Given the description of an element on the screen output the (x, y) to click on. 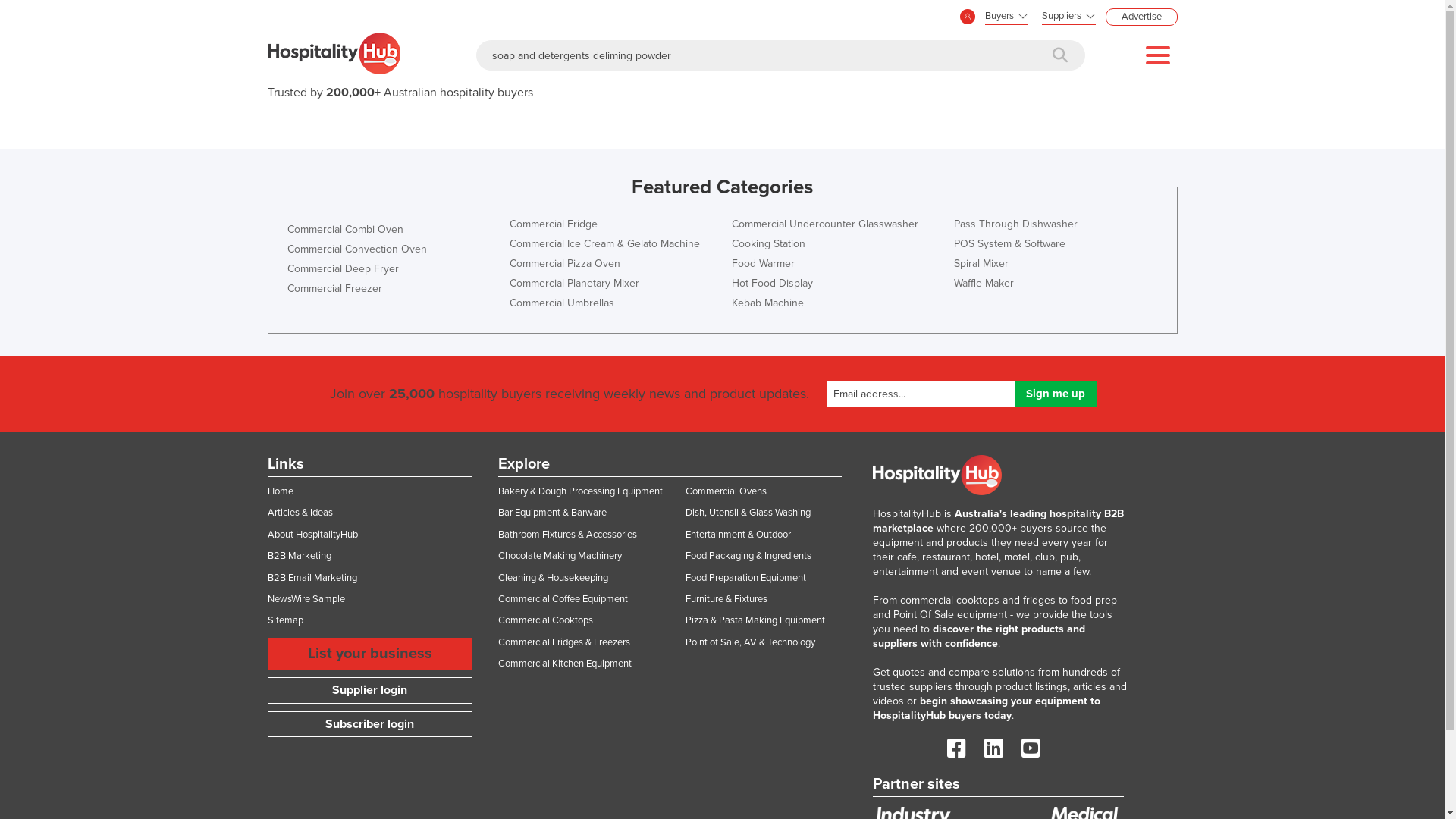
Entertainment & Outdoor Element type: text (737, 534)
Chocolate Making Machinery Element type: text (559, 555)
Commercial Combi Oven Element type: text (344, 228)
Dish, Utensil & Glass Washing Element type: text (747, 512)
Supplier login Element type: text (368, 690)
Kebab Machine Element type: text (767, 302)
B2B Marketing Element type: text (298, 555)
Cleaning & Housekeeping Element type: text (552, 577)
discover the right products and suppliers with confidence Element type: text (978, 635)
Commercial Ice Cream & Gelato Machine Element type: text (604, 243)
POS System & Software Element type: text (1009, 243)
Point of Sale, AV & Technology Element type: text (750, 642)
Commercial Fridges & Freezers Element type: text (563, 642)
Articles & Ideas Element type: text (299, 512)
Bathroom Fixtures & Accessories Element type: text (566, 534)
Commercial Cooktops Element type: text (544, 620)
Cooking Station Element type: text (767, 243)
Commercial Convection Oven Element type: text (356, 248)
B2B Email Marketing Element type: text (311, 577)
Furniture & Fixtures Element type: text (726, 599)
Commercial Coffee Equipment Element type: text (562, 599)
Commercial Undercounter Glasswasher Element type: text (824, 223)
Commercial Pizza Oven Element type: text (564, 263)
Commercial Fridge Element type: text (553, 223)
Commercial Deep Fryer Element type: text (342, 268)
Pizza & Pasta Making Equipment Element type: text (755, 620)
Commercial Planetary Mixer Element type: text (574, 282)
Sitemap Element type: text (284, 620)
Bakery & Dough Processing Equipment Element type: text (579, 491)
About HospitalityHub Element type: text (311, 534)
List your business Element type: text (368, 653)
Pass Through Dishwasher Element type: text (1015, 223)
Subscriber login Element type: text (368, 724)
Food Preparation Equipment Element type: text (745, 577)
Spiral Mixer Element type: text (980, 263)
Bar Equipment & Barware Element type: text (551, 512)
Commercial Ovens Element type: text (725, 491)
Hot Food Display Element type: text (771, 282)
Home Element type: text (279, 491)
Commercial Umbrellas Element type: text (561, 302)
NewsWire Sample Element type: text (305, 599)
Commercial Freezer Element type: text (333, 288)
Waffle Maker Element type: text (983, 282)
Commercial Kitchen Equipment Element type: text (563, 663)
Food Warmer Element type: text (762, 263)
Food Packaging & Ingredients Element type: text (748, 555)
Advertise Element type: text (1141, 16)
